Given the description of an element on the screen output the (x, y) to click on. 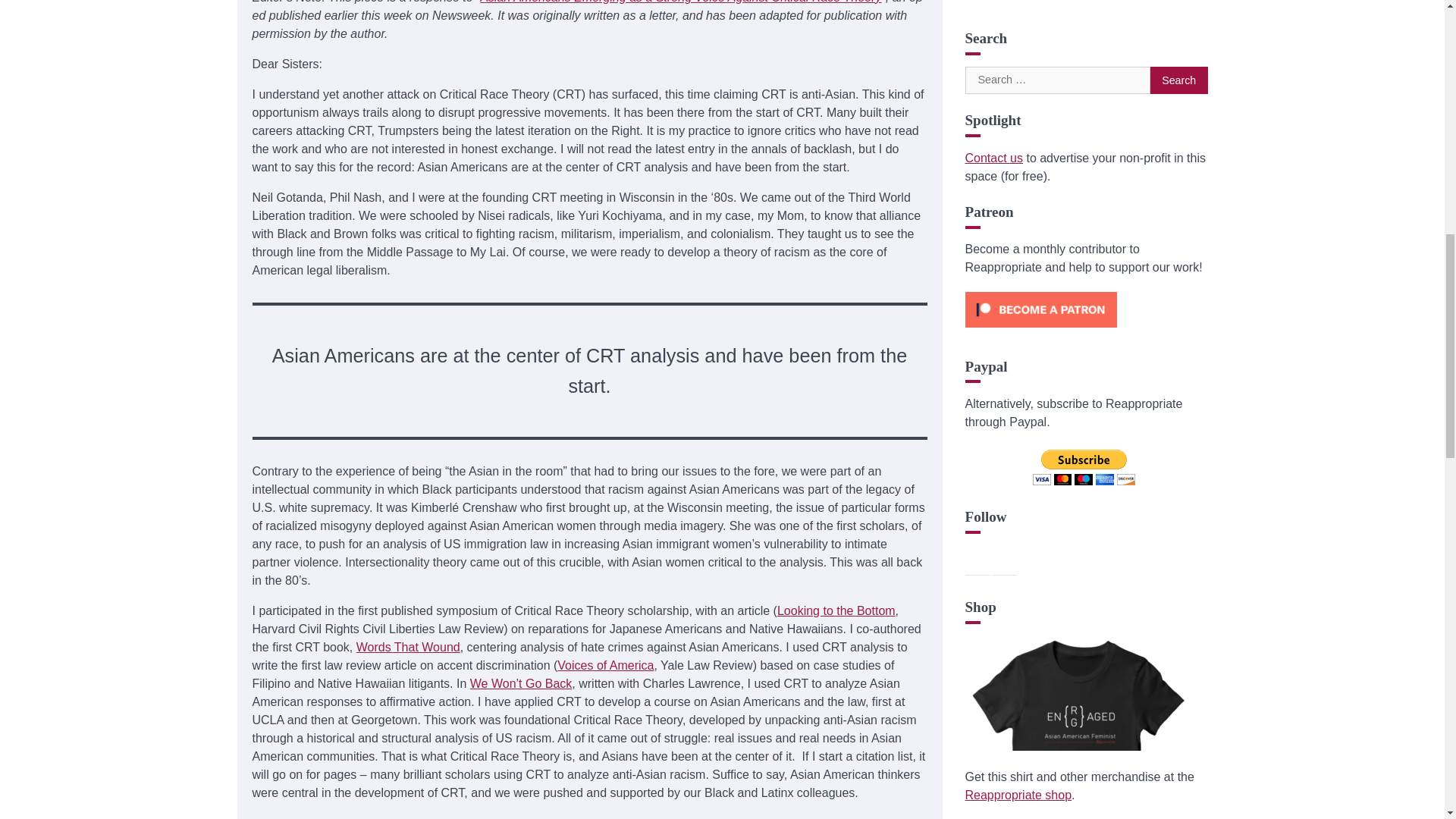
Words That Wound (408, 646)
Looking to the Bottom (836, 610)
Voices of America (605, 665)
